Given the description of an element on the screen output the (x, y) to click on. 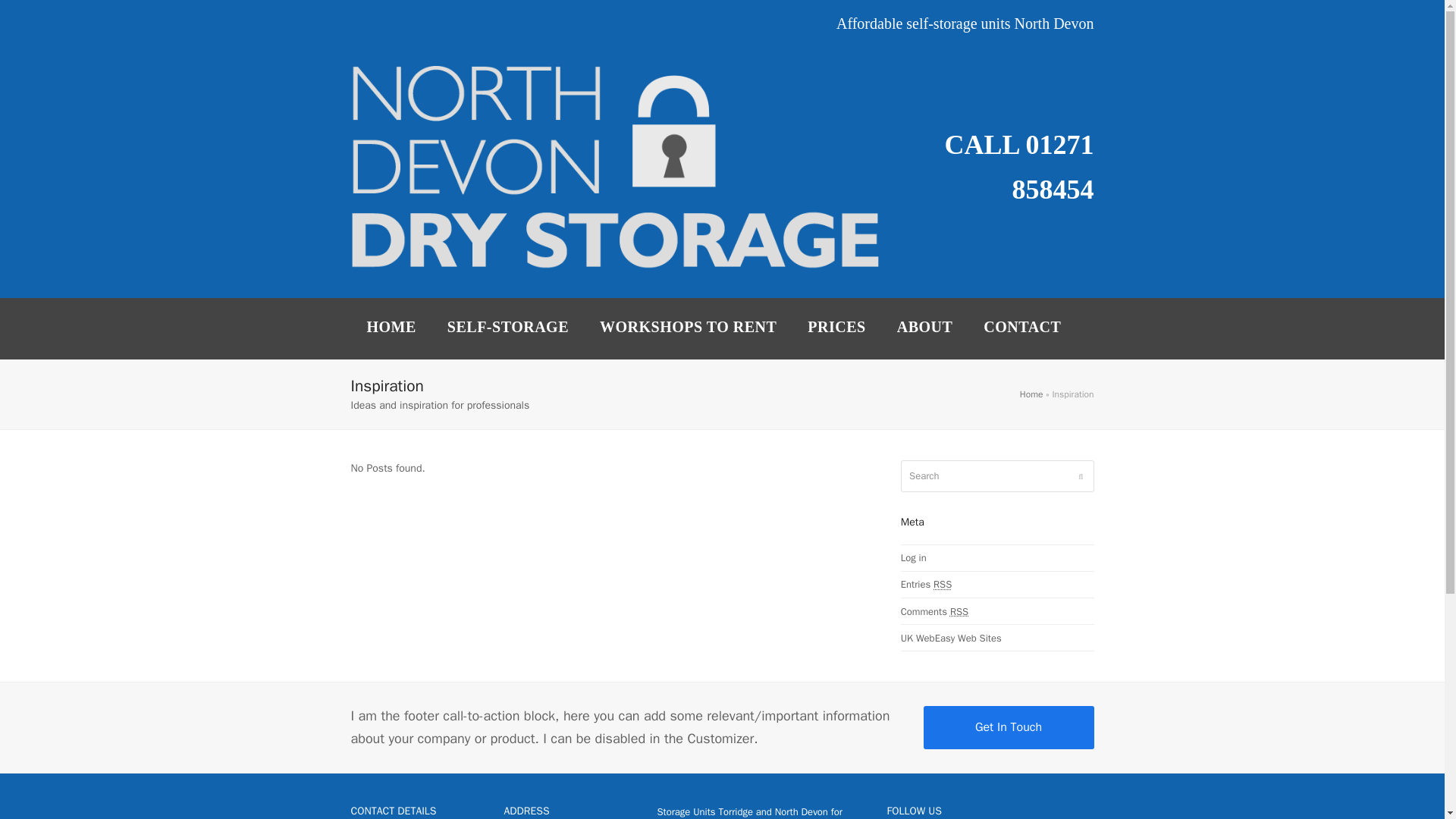
PRICES (836, 328)
Really Simple Syndication (959, 611)
WORKSHOPS TO RENT (688, 328)
Entries RSS (926, 584)
UK WebEasy Web Sites (951, 637)
Powered by UK WebEasy Web Sites (951, 637)
Home (1031, 394)
Comments RSS (934, 611)
SELF-STORAGE (507, 328)
HOME (391, 328)
The latest comments to all posts in RSS (934, 611)
CONTACT (1021, 328)
Get In Touch (1008, 726)
Syndicate this site using RSS 2.0 (926, 584)
ABOUT (925, 328)
